Given the description of an element on the screen output the (x, y) to click on. 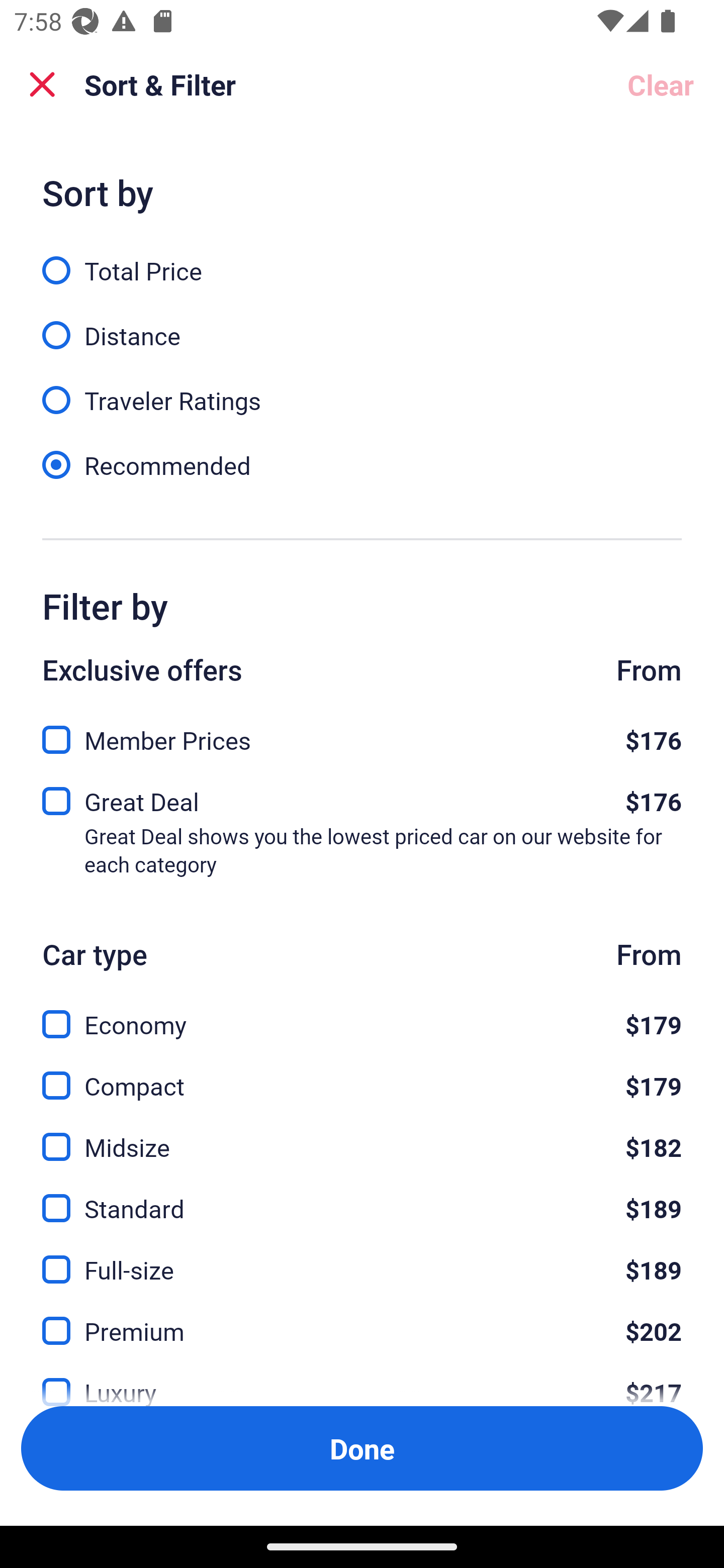
Close Sort and Filter (42, 84)
Clear (660, 84)
Total Price (361, 259)
Distance (361, 324)
Traveler Ratings (361, 389)
Member Prices, $176 Member Prices $176 (361, 734)
Economy, $179 Economy $179 (361, 1013)
Compact, $179 Compact $179 (361, 1074)
Midsize, $182 Midsize $182 (361, 1135)
Standard, $189 Standard $189 (361, 1196)
Full-size, $189 Full-size $189 (361, 1257)
Premium, $202 Premium $202 (361, 1319)
Apply and close Sort and Filter Done (361, 1448)
